Given the description of an element on the screen output the (x, y) to click on. 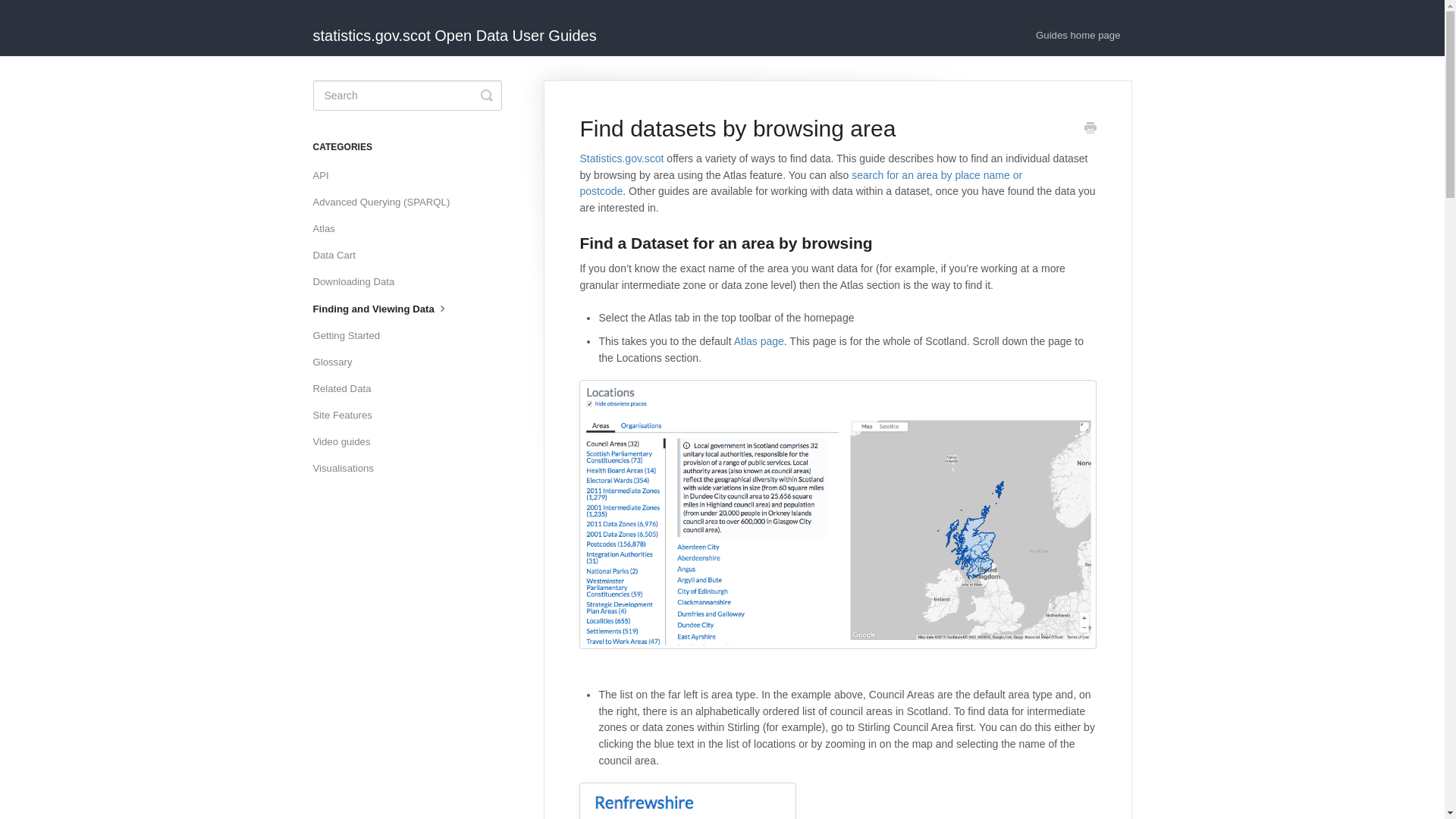
Guides home page (1078, 35)
Glossary (337, 362)
search for an area by place name or postcode (800, 183)
Atlas (329, 228)
Finding and Viewing Data (387, 308)
Data Cart (339, 255)
Downloading Data (359, 282)
Site Features (347, 415)
statistics.gov.scot Open Data User Guides (462, 28)
search-query (406, 95)
